Given the description of an element on the screen output the (x, y) to click on. 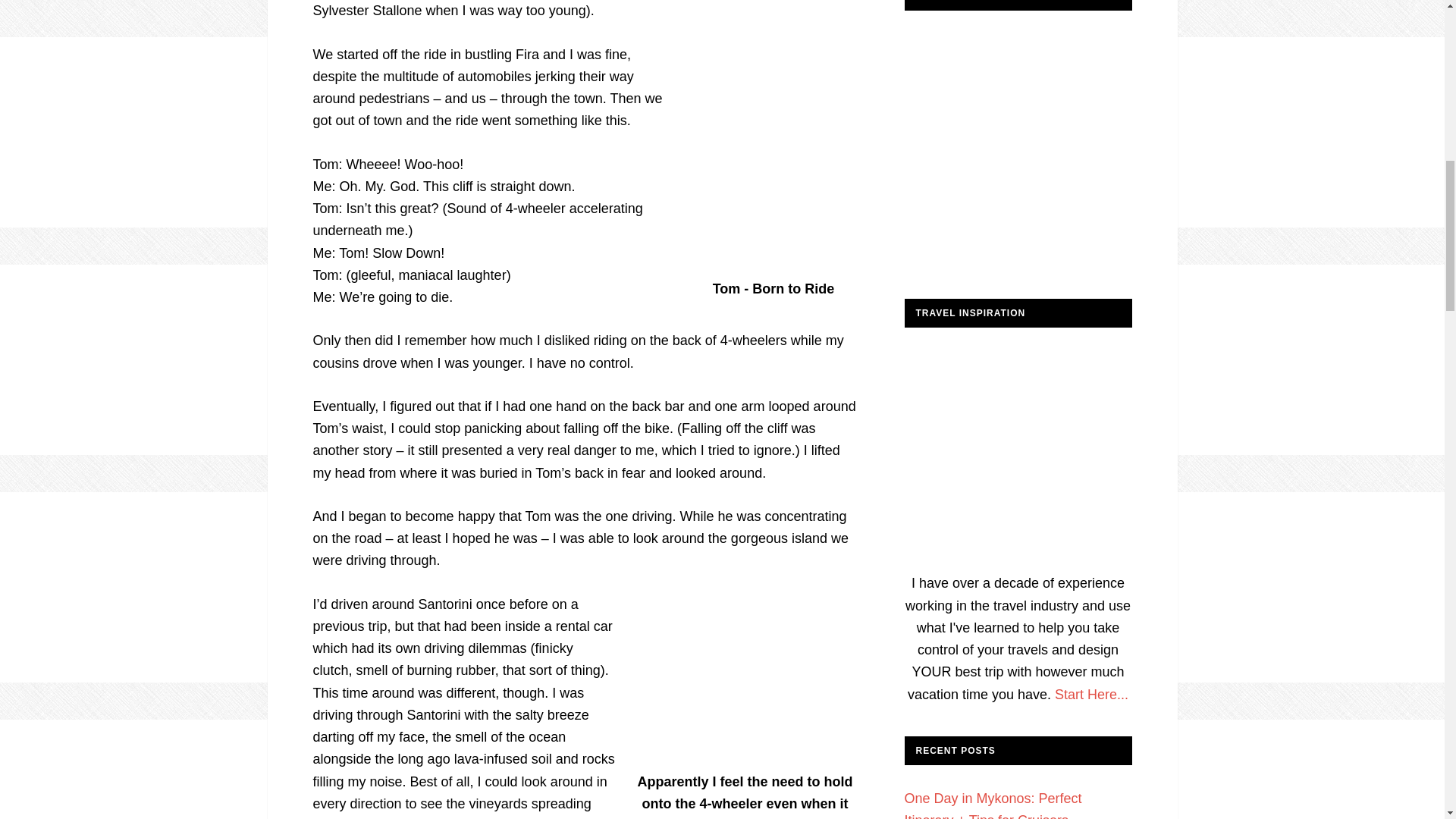
me4wheeler (744, 678)
tom4wheeler (773, 157)
